Given the description of an element on the screen output the (x, y) to click on. 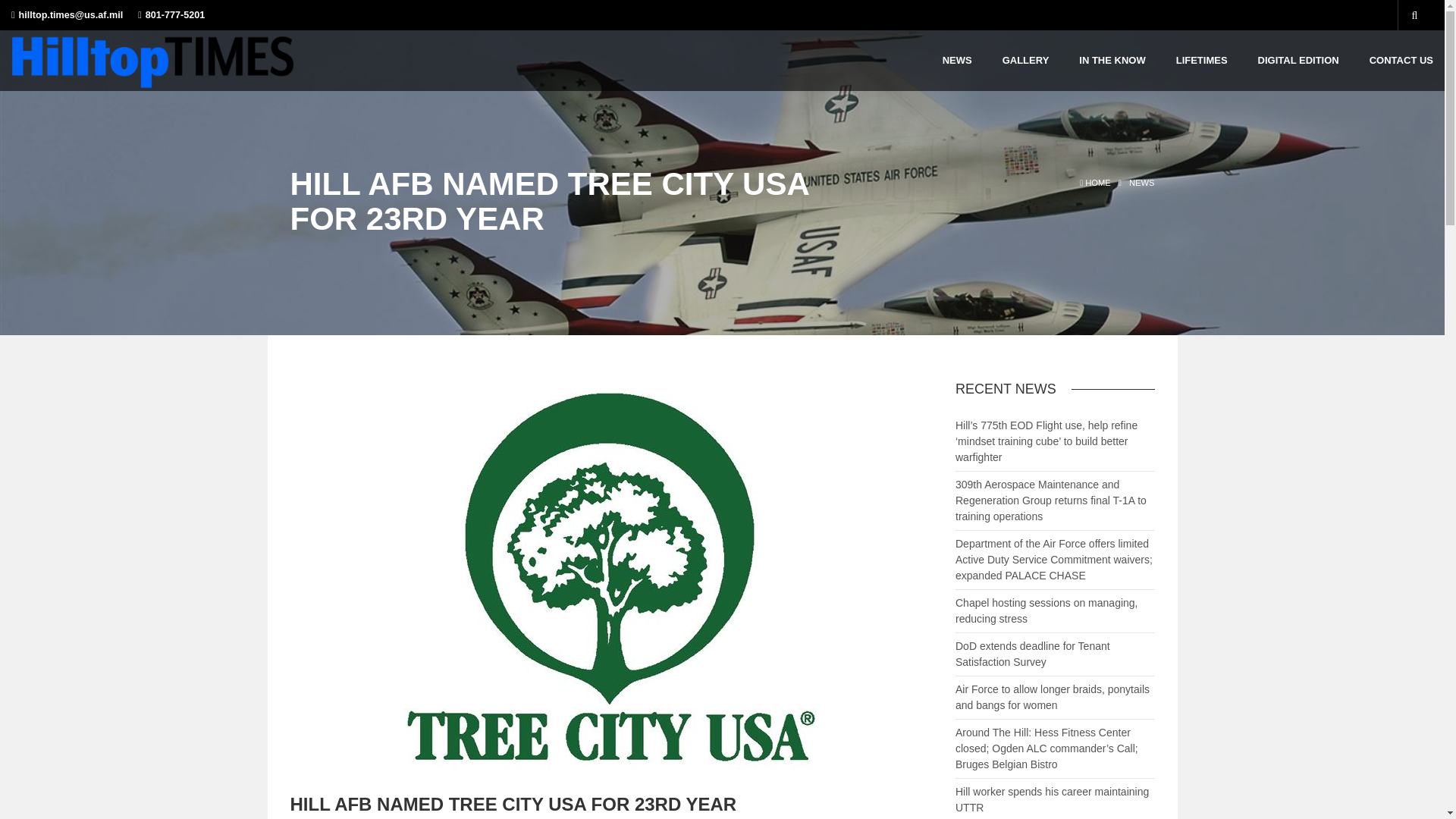
NEWS (957, 60)
HOME (1093, 182)
IN THE KNOW (1111, 60)
CONTACT US (1401, 60)
GALLERY (1026, 60)
LIFETIMES (1201, 60)
DIGITAL EDITION (1298, 60)
NEWS (1141, 182)
